Given the description of an element on the screen output the (x, y) to click on. 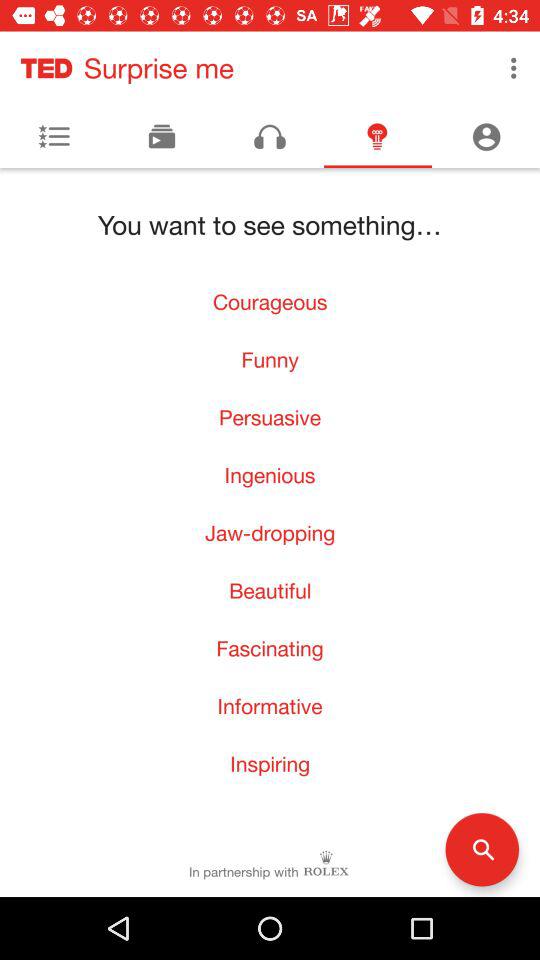
select icon above the inspiring icon (270, 706)
